Given the description of an element on the screen output the (x, y) to click on. 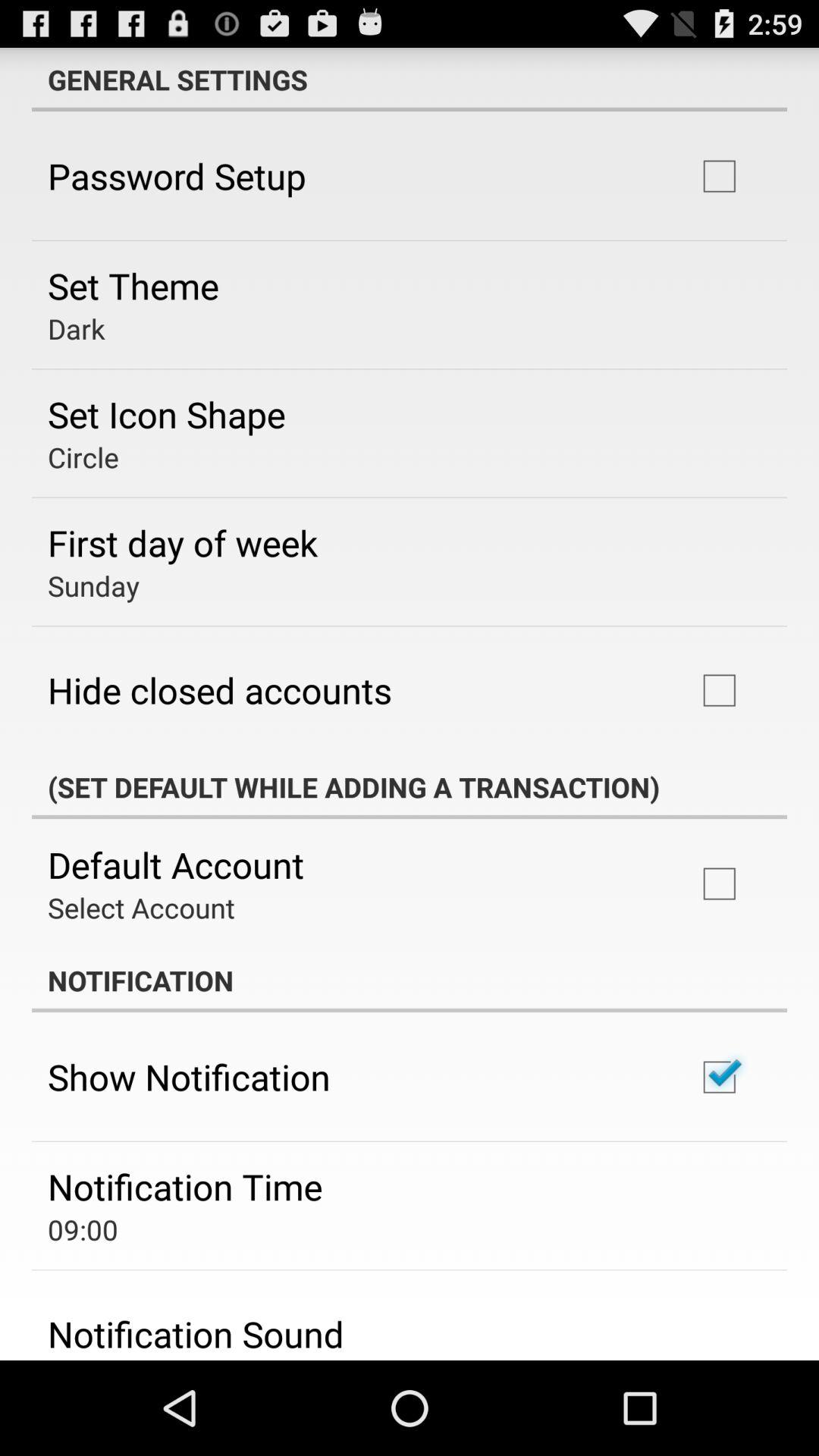
turn on the app at the center (409, 787)
